Given the description of an element on the screen output the (x, y) to click on. 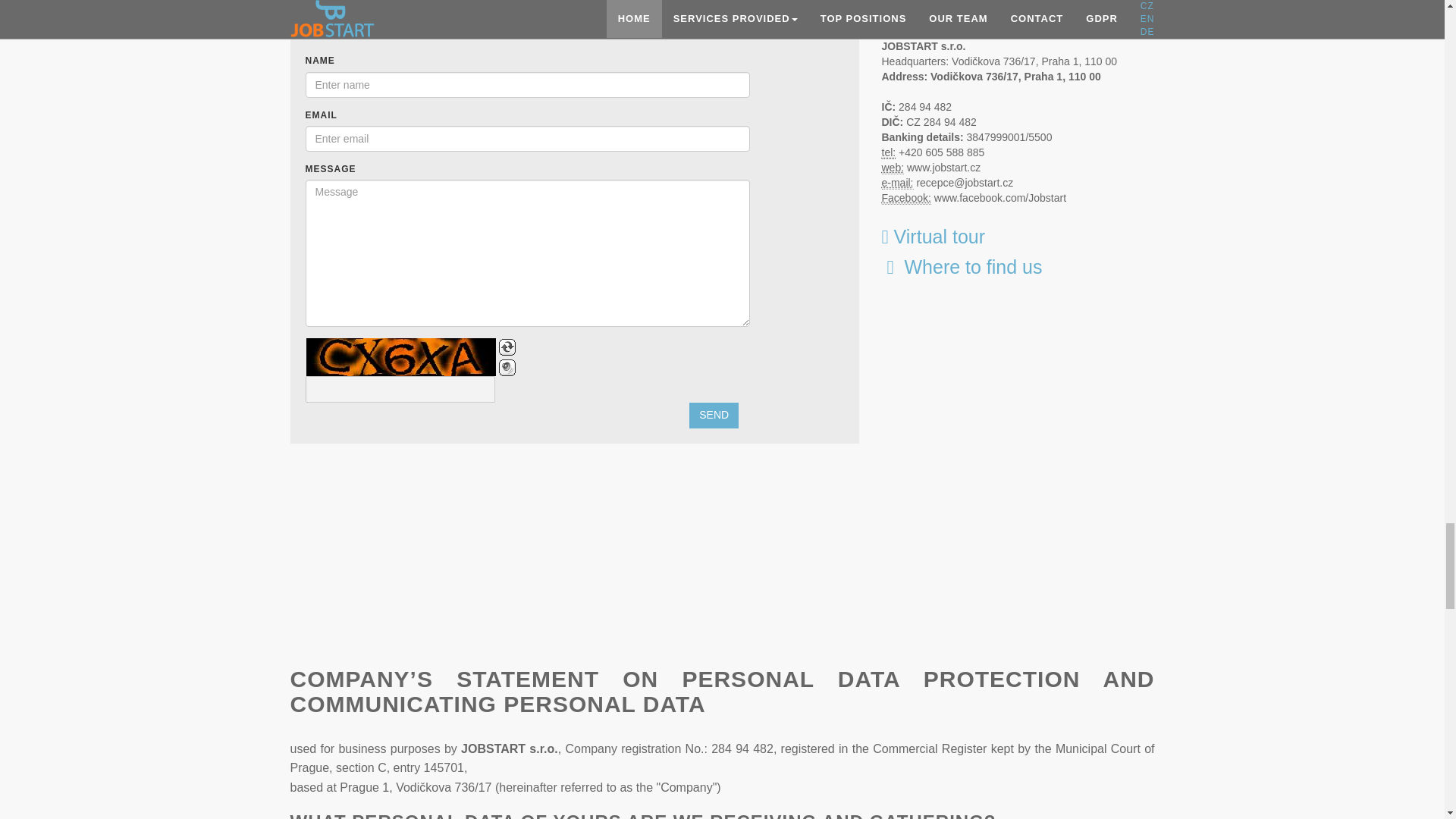
fb (905, 197)
Speak the CAPTCHA code (507, 367)
email (896, 182)
Phone (887, 152)
www (892, 167)
BotDetect CAPTCHA ASP.NET Form Validation (400, 356)
Change the CAPTCHA code (507, 347)
